Given the description of an element on the screen output the (x, y) to click on. 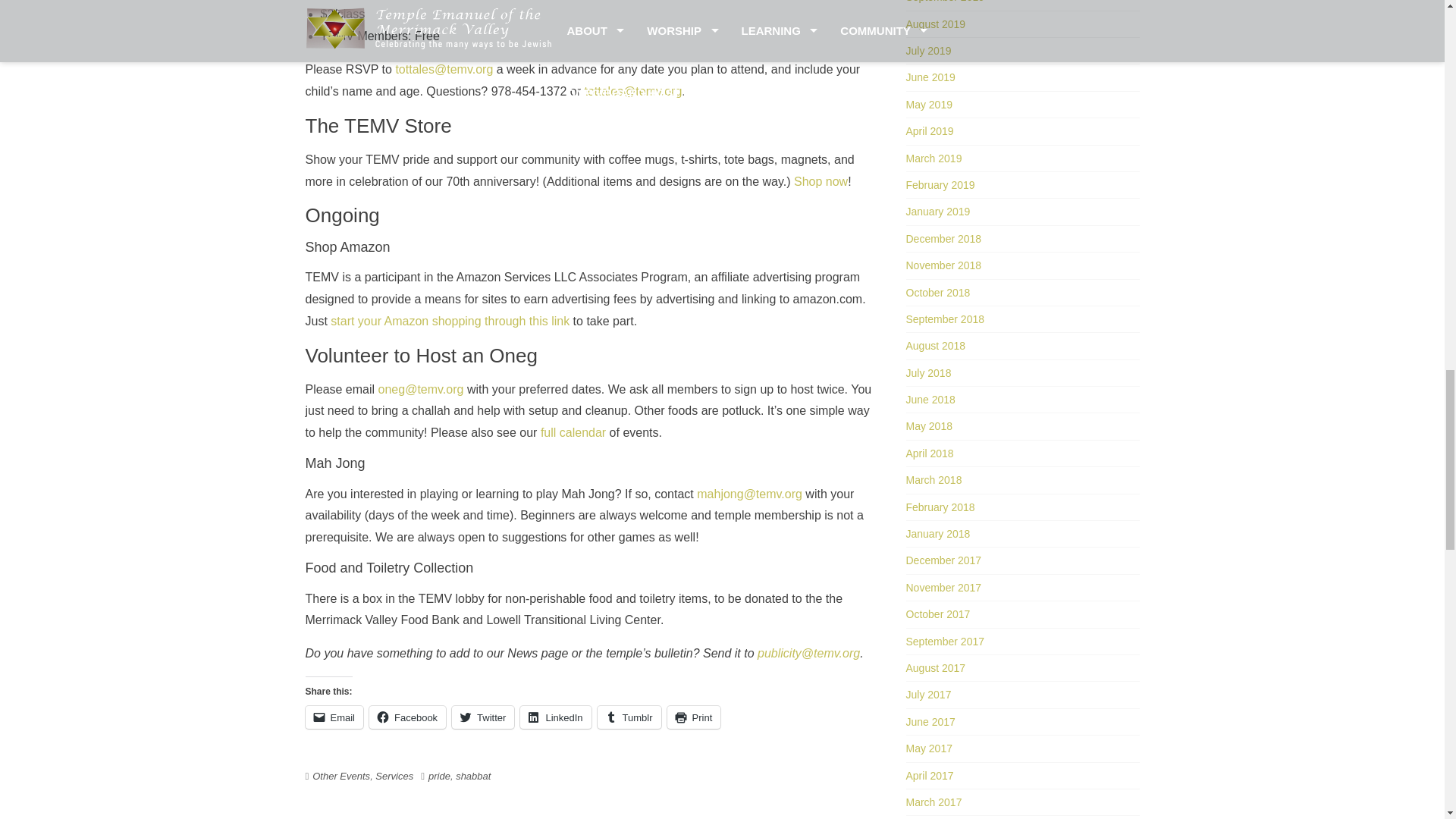
Click to share on Twitter (482, 716)
start your Amazon shopping through this link (449, 320)
Click to email a link to a friend (333, 716)
Click to share on LinkedIn (555, 716)
Click to share on Facebook (407, 716)
Click to share on Tumblr (628, 716)
Click to print (693, 716)
Shop now (820, 181)
full calendar (572, 431)
